Given the description of an element on the screen output the (x, y) to click on. 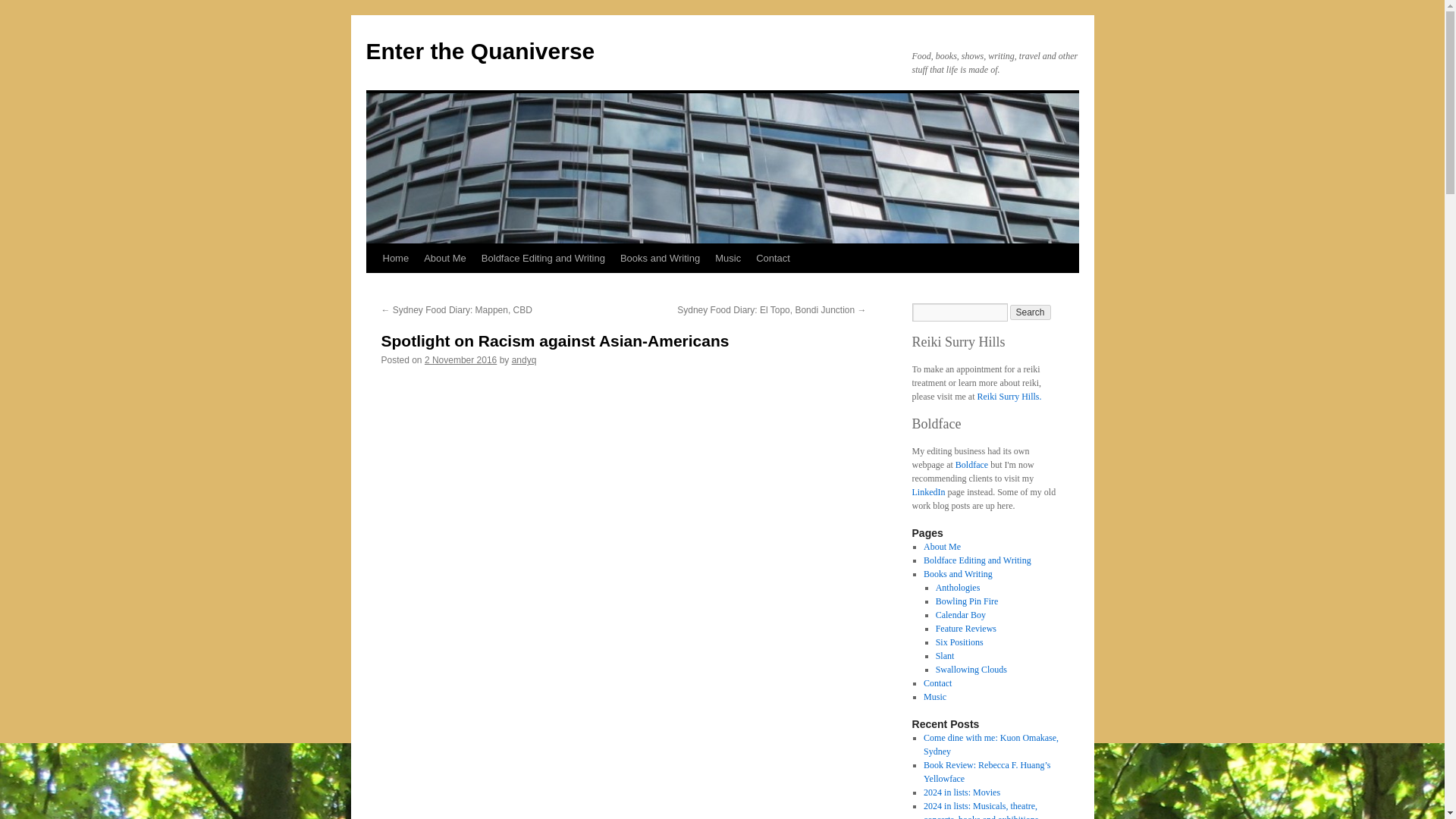
2:00 AM (460, 359)
Search (1030, 312)
Books and Writing (957, 573)
Contact (772, 258)
Home (395, 258)
Reiki Surry Hills. (1008, 396)
2 November 2016 (460, 359)
View all posts by andyq (524, 359)
Music (727, 258)
Search (1030, 312)
